Given the description of an element on the screen output the (x, y) to click on. 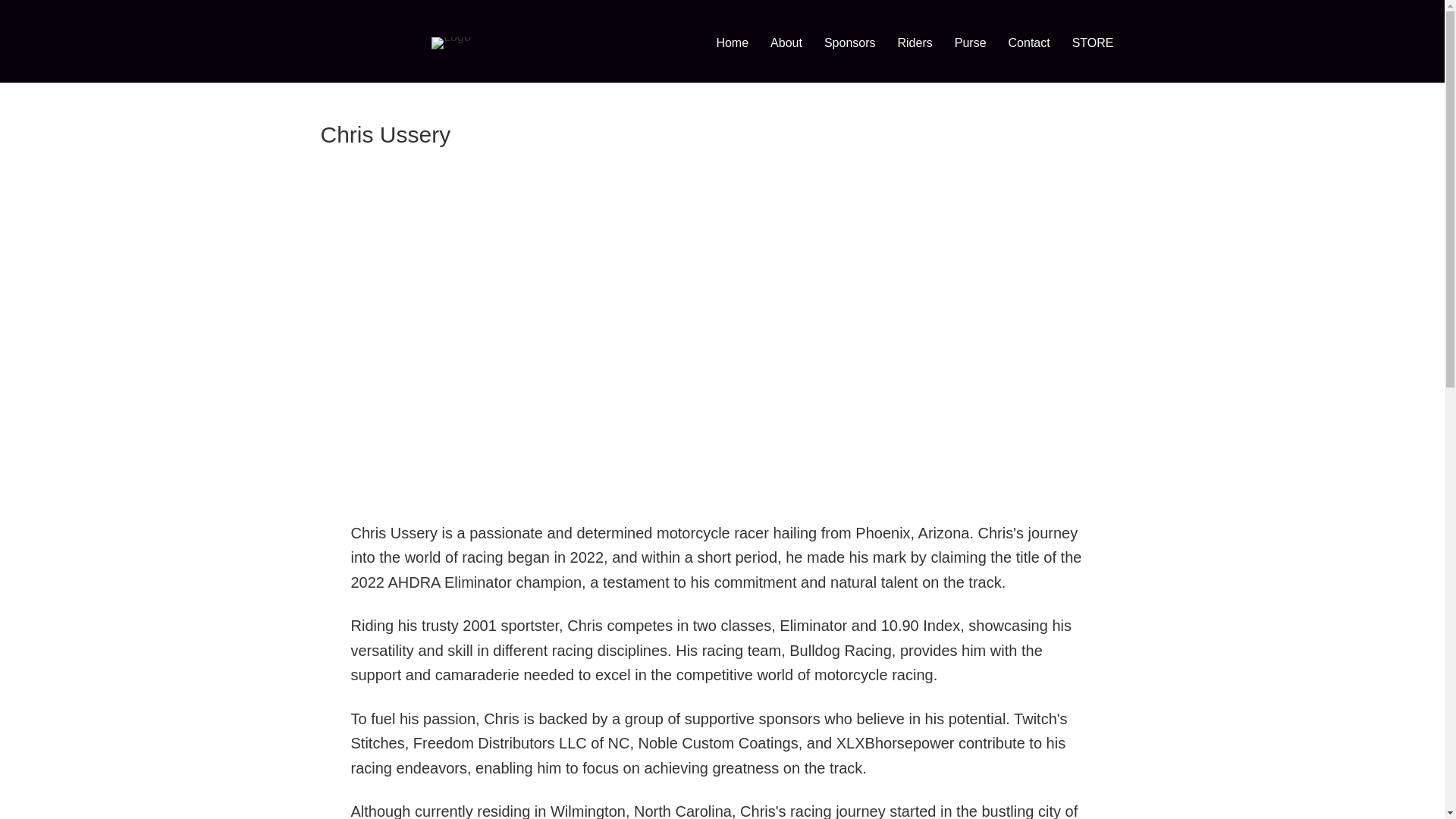
Riders (914, 42)
STORE (1092, 42)
Purse (970, 42)
Home (731, 42)
About (786, 42)
Sponsors (849, 42)
Contact (1029, 42)
